Given the description of an element on the screen output the (x, y) to click on. 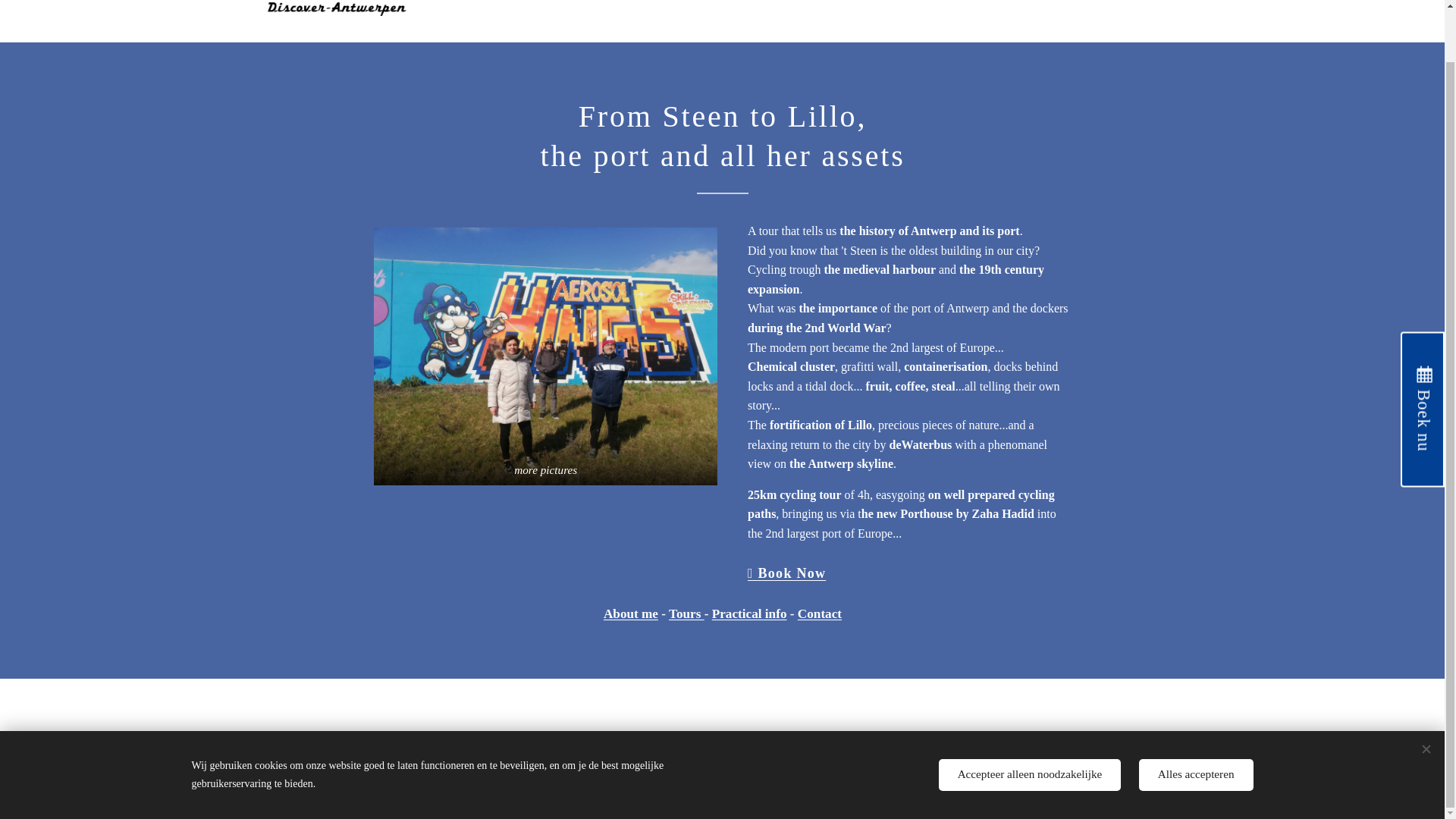
FR - EN (887, 6)
Accepteer alleen noodzakelijke (1030, 717)
Practical info (748, 613)
Alles accepteren (1195, 717)
more pictures (544, 356)
Contact (818, 613)
PRAKTISCHE INFO (1036, 6)
STAD (758, 6)
HOME (656, 6)
Tours (686, 613)
CONTACT (947, 6)
HAVEN (707, 6)
TESTIMONIALS (1135, 6)
OVER ONS... (820, 6)
more pictures (544, 356)
